Given the description of an element on the screen output the (x, y) to click on. 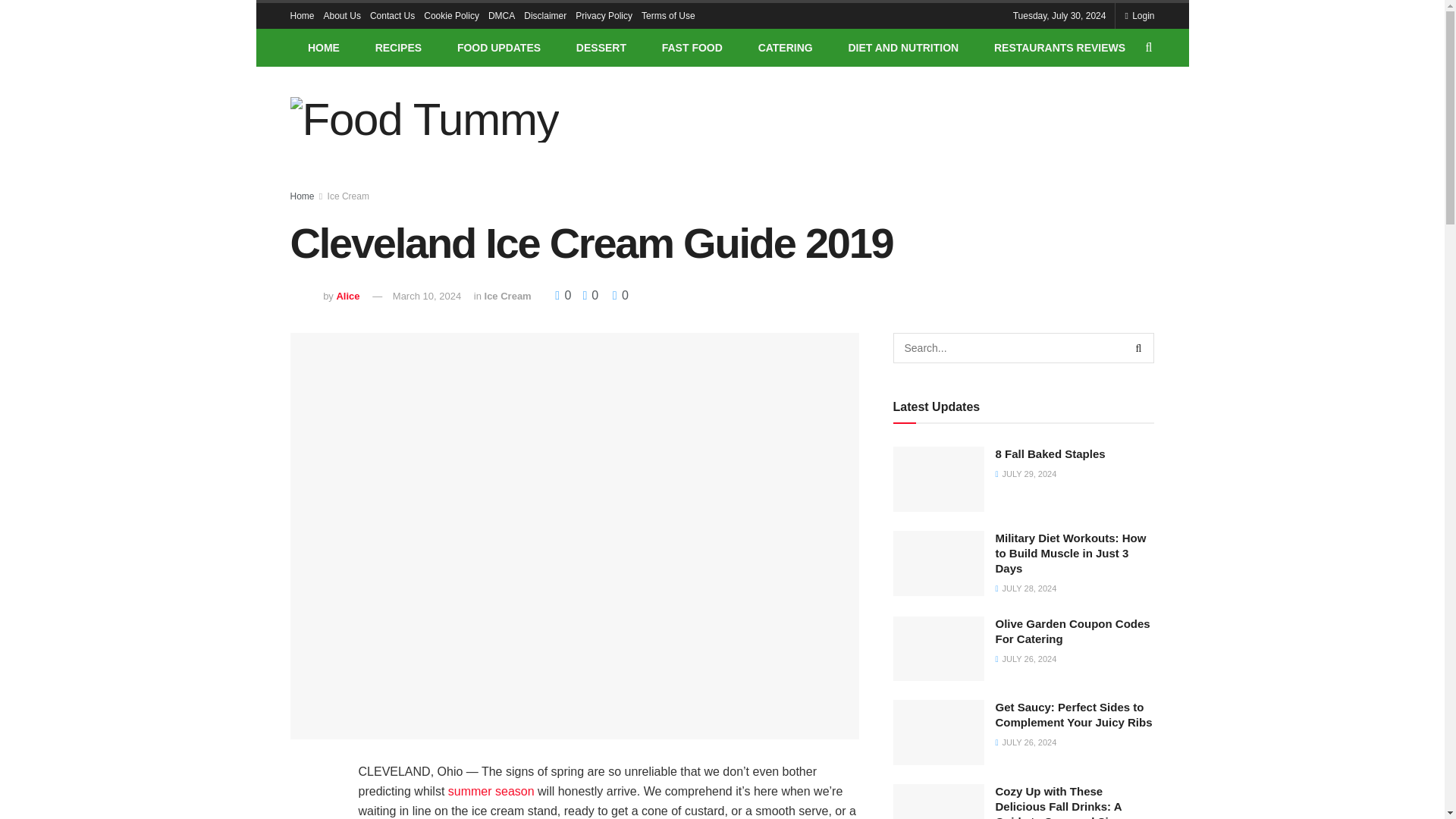
DIET AND NUTRITION (902, 47)
Home (301, 15)
Terms of Use (668, 15)
About Us (342, 15)
Privacy Policy (603, 15)
Disclaimer (545, 15)
Contact Us (391, 15)
DMCA (501, 15)
FOOD UPDATES (499, 47)
CATERING (784, 47)
RESTAURANTS REVIEWS (1059, 47)
HOME (322, 47)
Cookie Policy (451, 15)
Login (1139, 15)
RECIPES (397, 47)
